Given the description of an element on the screen output the (x, y) to click on. 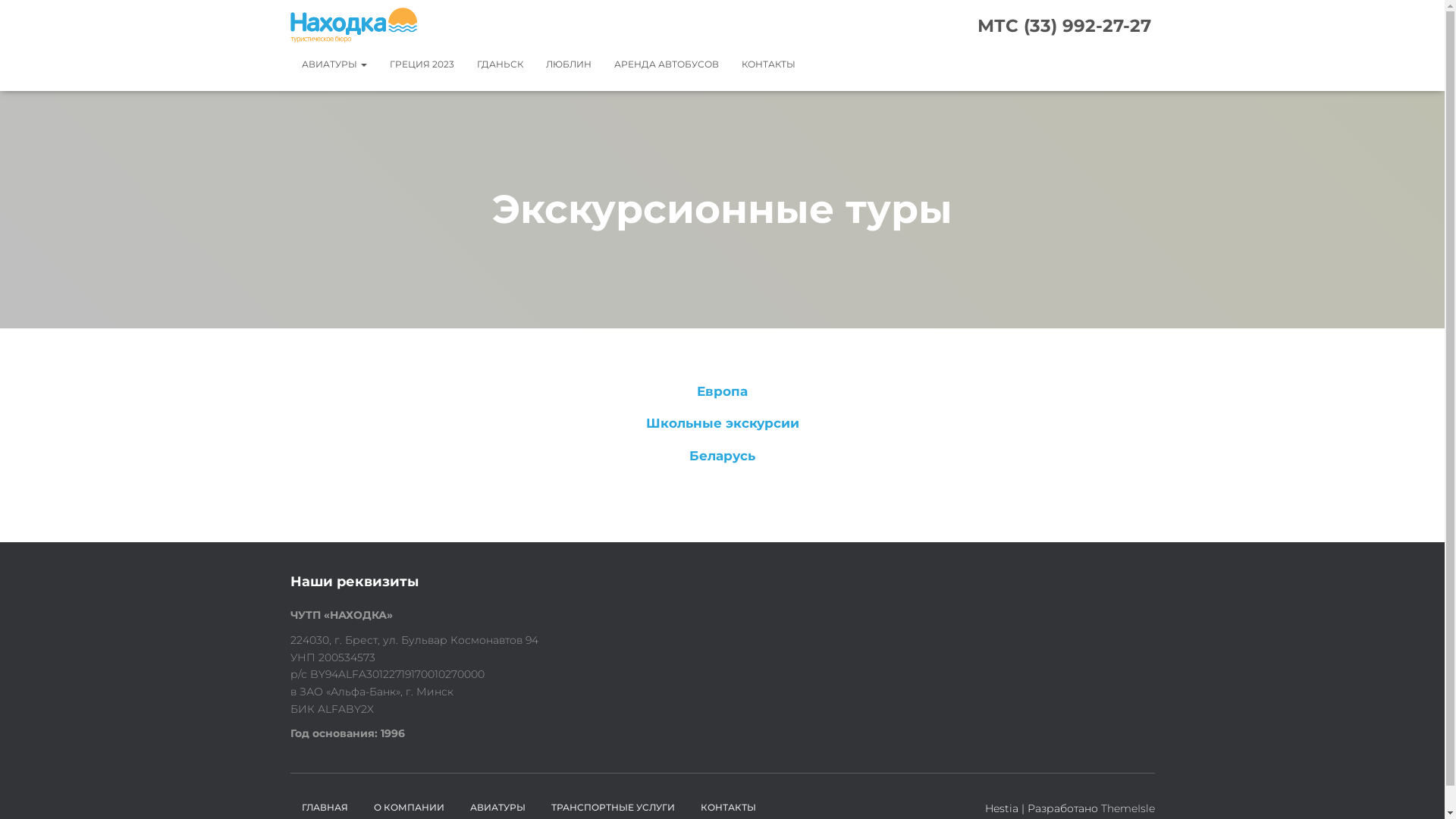
ThemeIsle Element type: text (1127, 808)
